Given the description of an element on the screen output the (x, y) to click on. 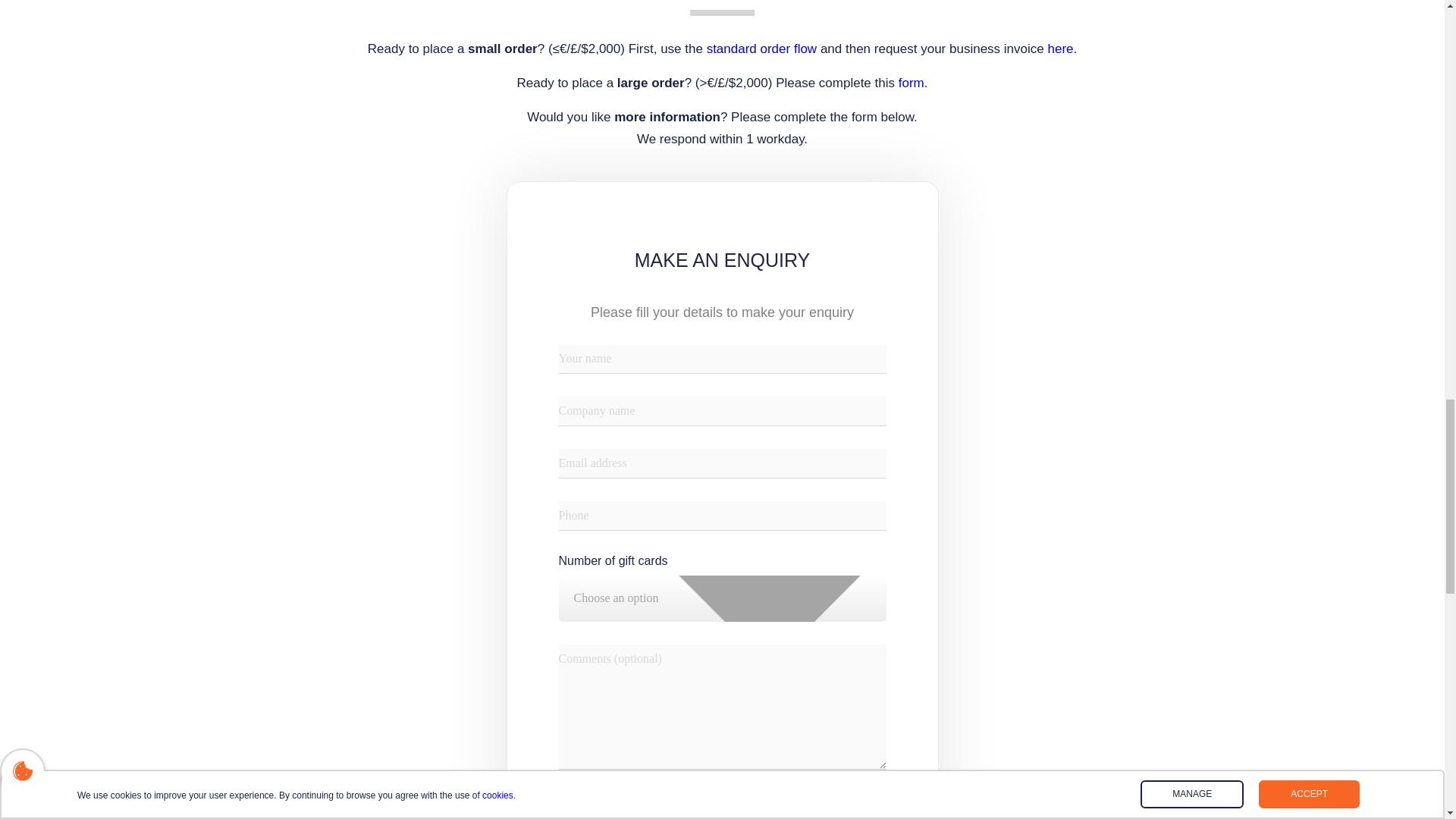
here (1059, 48)
standard order flow (761, 48)
Make enquiry (721, 807)
Make enquiry (721, 807)
form (911, 83)
